Given the description of an element on the screen output the (x, y) to click on. 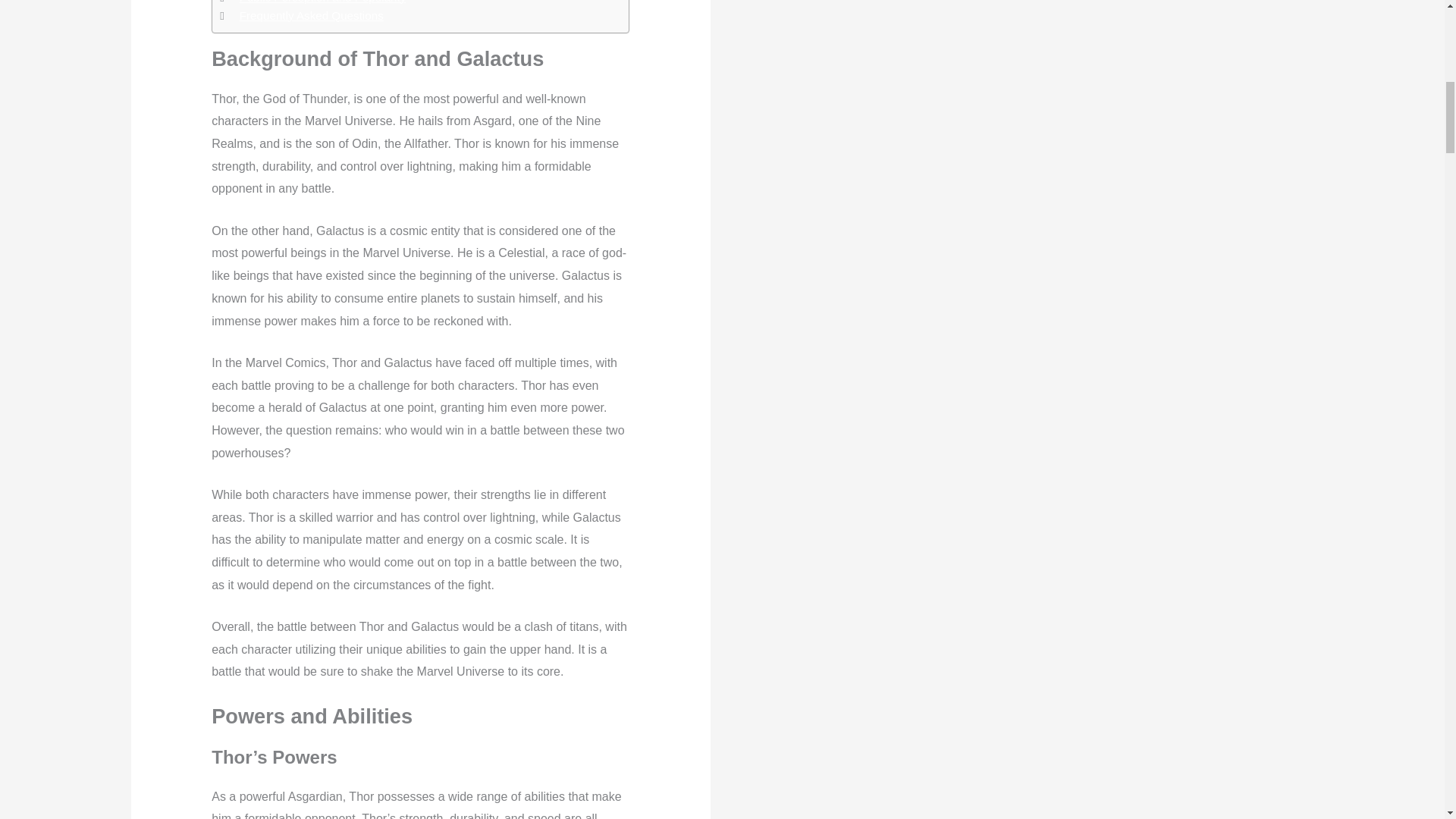
Frequently Asked Questions (312, 15)
Public Perception and Popularity (323, 3)
Frequently Asked Questions (312, 15)
Public Perception and Popularity (323, 3)
